Given the description of an element on the screen output the (x, y) to click on. 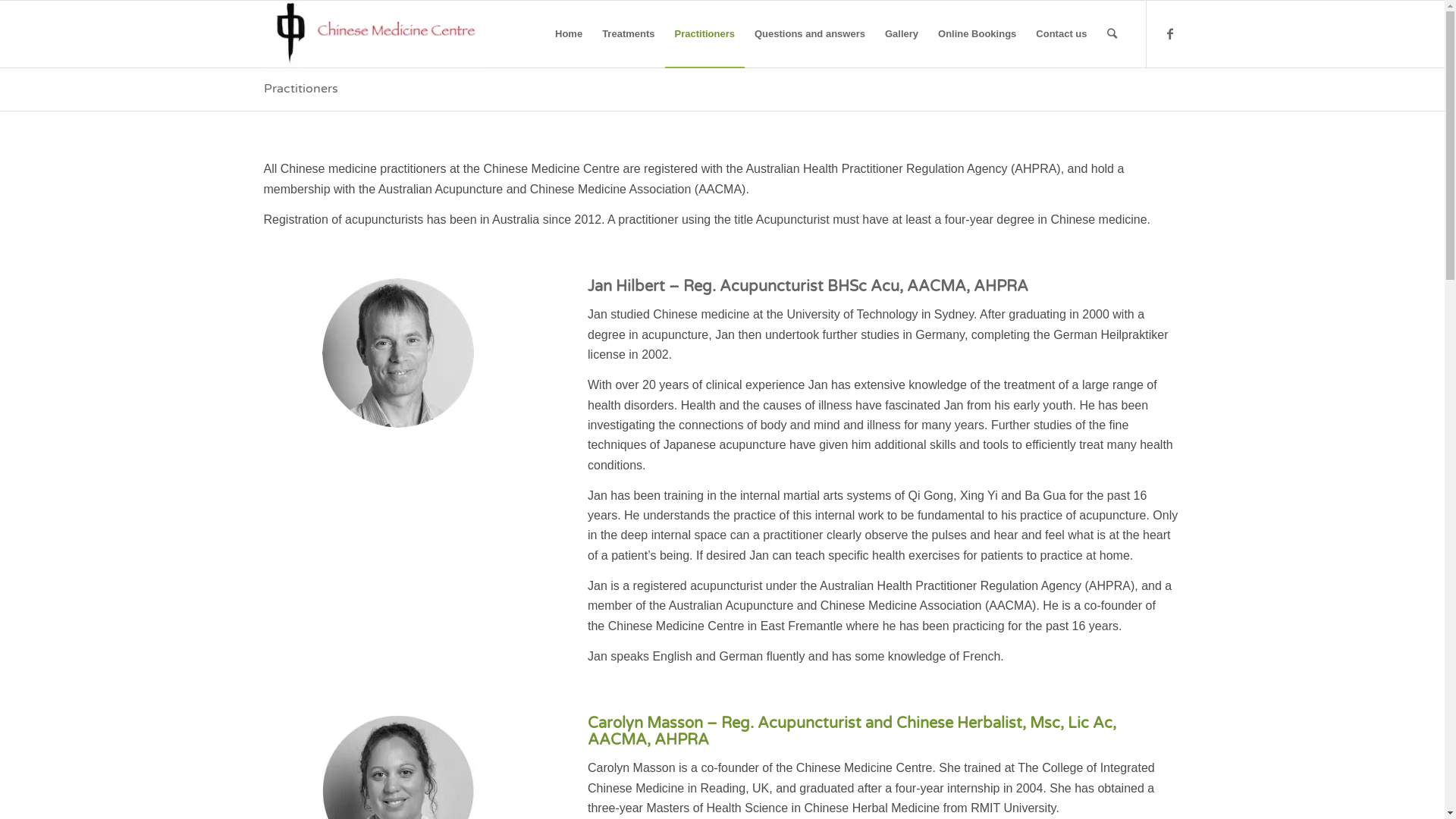
Practitioners Element type: text (704, 33)
Facebook Element type: hover (1169, 32)
Practitioners Element type: text (300, 88)
Home Element type: text (568, 33)
Gallery Element type: text (901, 33)
Online Bookings Element type: text (977, 33)
Questions and answers Element type: text (809, 33)
Contact us Element type: text (1061, 33)
Treatments Element type: text (628, 33)
